Given the description of an element on the screen output the (x, y) to click on. 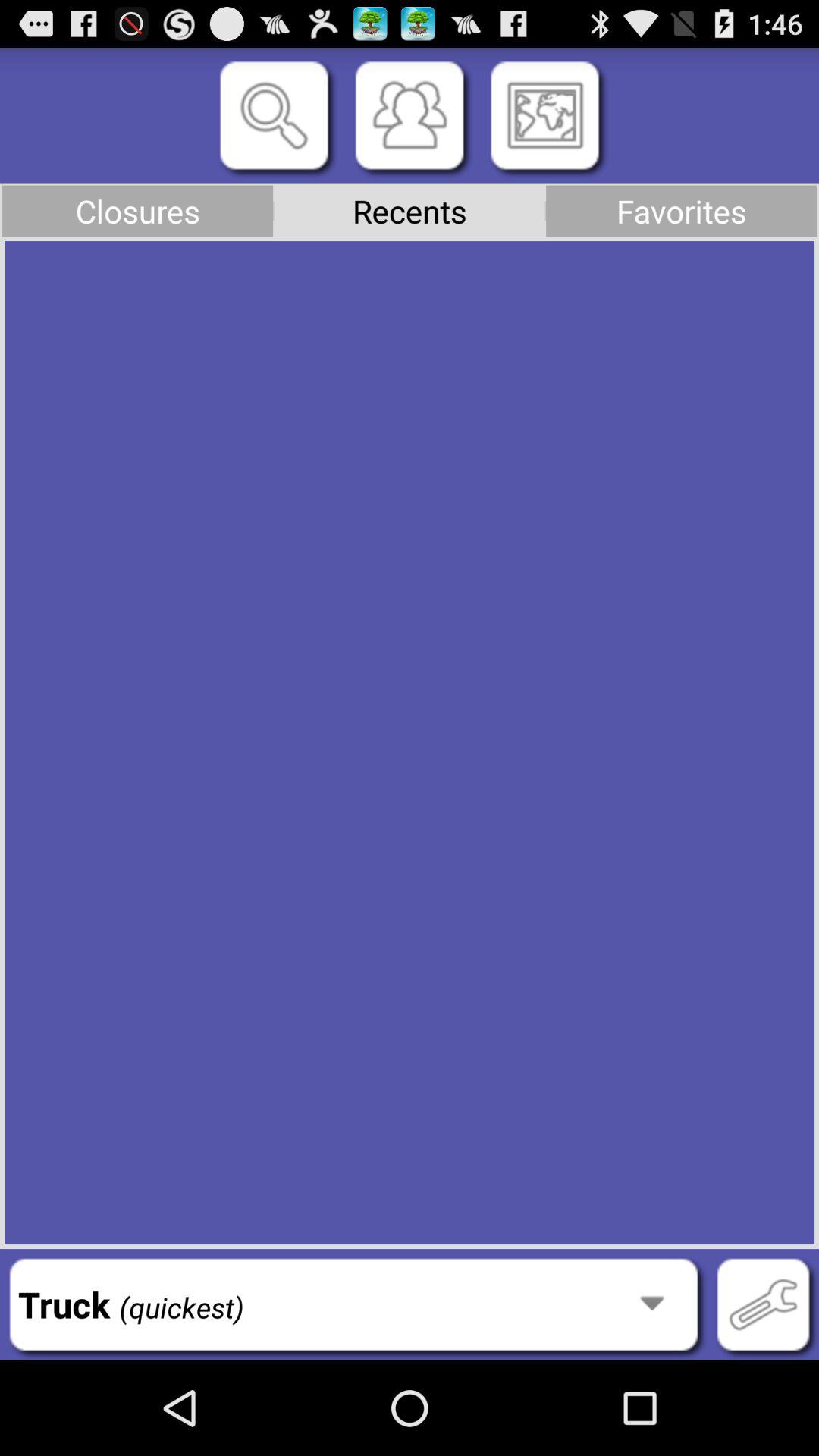
select the app above closures icon (273, 115)
